Given the description of an element on the screen output the (x, y) to click on. 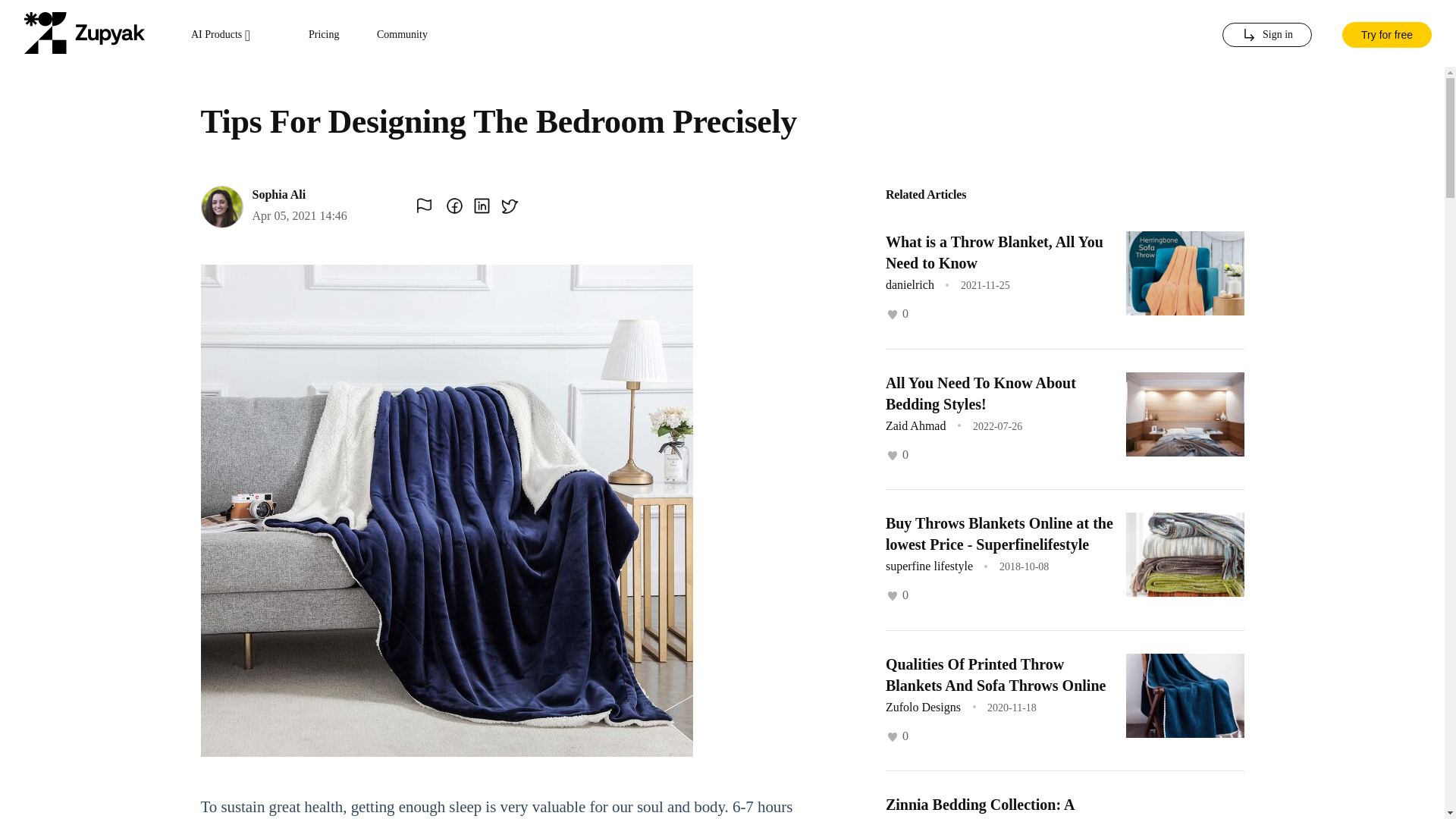
Pricing (323, 34)
All You Need To Know About Bedding Styles! (980, 393)
Community (402, 34)
What is a Throw Blanket, All You Need to Know (994, 252)
Qualities Of Printed Throw Blankets And Sofa Throws Online (995, 673)
 Sign in (1267, 34)
What is a Throw Blanket, All You Need to Know (994, 252)
Try for free (1386, 33)
